Given the description of an element on the screen output the (x, y) to click on. 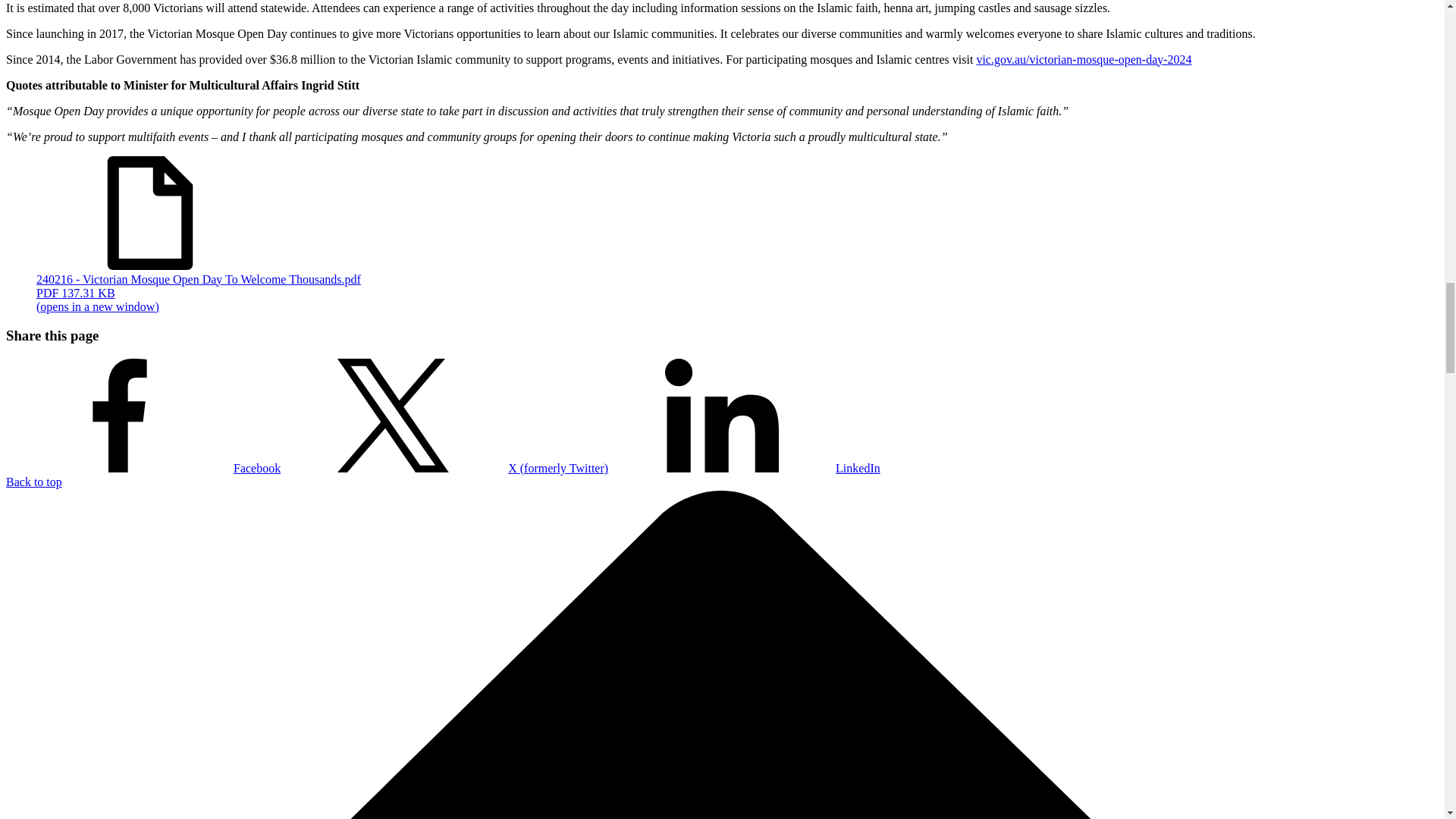
LinkedIn (744, 468)
Facebook (143, 468)
